Given the description of an element on the screen output the (x, y) to click on. 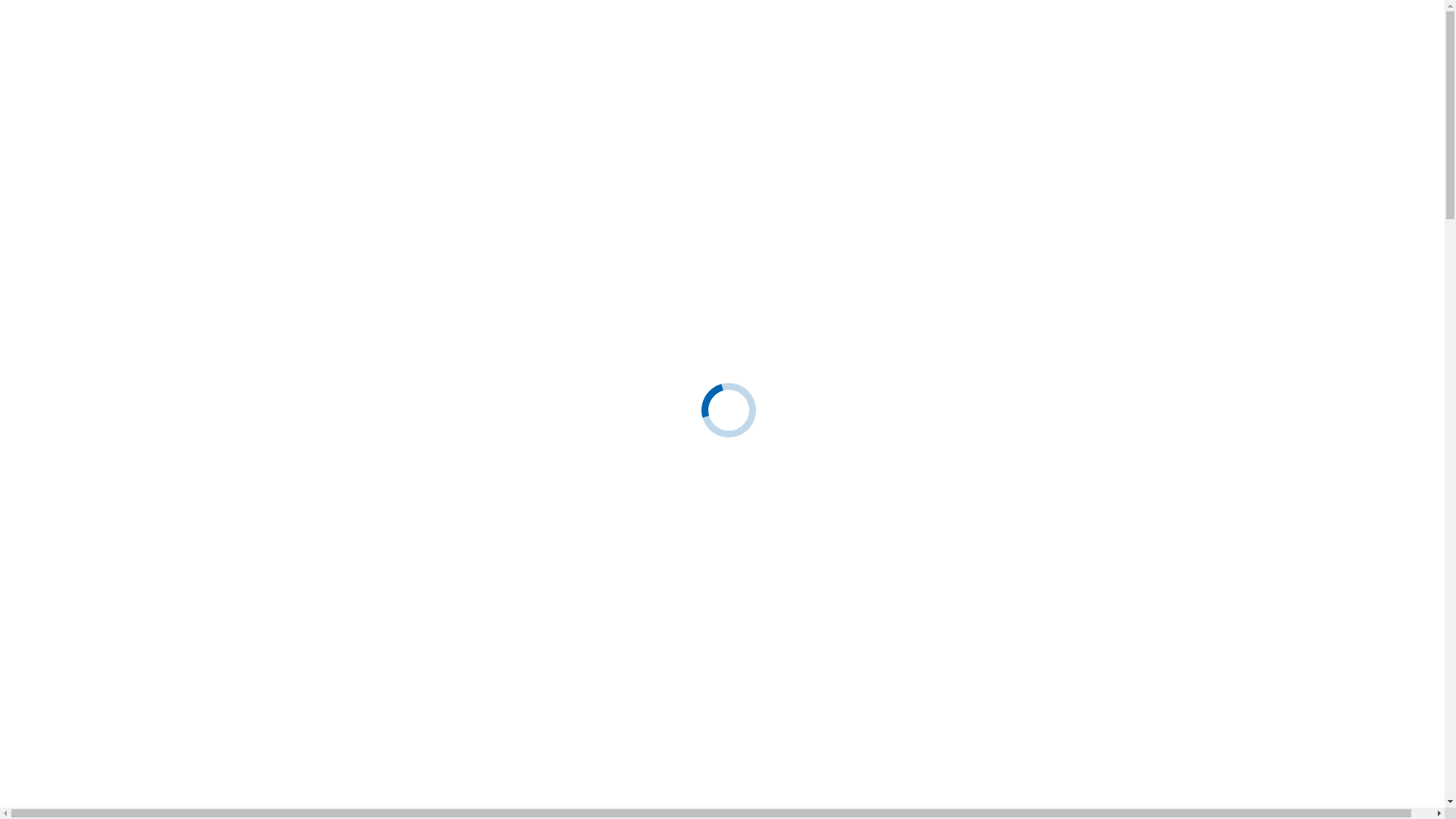
Contact Us Element type: text (63, 759)
Bridging Finance Element type: text (169, 582)
Debt Consolidation Calculator Element type: text (140, 718)
Debt Consolidation Element type: text (144, 664)
Types of Loans Element type: text (134, 133)
Buying Through Your SMSF Element type: text (227, 188)
100% Offset Accounts Element type: text (182, 201)
Skip to content Element type: text (5, 5)
Debt Consolidation Element type: text (144, 297)
Property investment Element type: text (176, 174)
Calculators Element type: text (63, 324)
Types of Loans Element type: text (134, 500)
Loan Repayments Calculator Element type: text (137, 705)
Variable Loans Element type: text (163, 514)
Construction and Renovations Loans Element type: text (217, 228)
Property investment Element type: text (176, 541)
Construction and Renovations Loans Element type: text (217, 595)
Residential and Investment Lending Element type: text (154, 473)
Home Element type: text (50, 418)
Resources Element type: text (61, 365)
Calculators Element type: text (63, 691)
Loan Repayments Calculator Element type: text (137, 338)
100% Offset Accounts Element type: text (182, 568)
Deposit Bonds Element type: text (163, 242)
Buying Through Your SMSF Element type: text (227, 555)
Meet the Team Element type: text (102, 78)
Life Insurance Element type: text (192, 283)
Income Protection Insurance Element type: text (227, 636)
Residential and Investment Lending Element type: text (154, 106)
Home Element type: text (50, 51)
Finance solutions Element type: text (78, 92)
Fixed Loans Element type: text (157, 527)
Helpful articles Element type: text (103, 379)
Fixed Loans Element type: text (157, 160)
Financial Planning Element type: text (172, 256)
Refinancing Element type: text (126, 310)
Financial Planning Element type: text (172, 623)
Contact Us Element type: text (63, 392)
Income Protection Insurance Element type: text (227, 269)
Meet the Team Element type: text (102, 445)
Finance solutions Element type: text (78, 459)
Debt Consolidation Calculator Element type: text (140, 351)
About Us Element type: text (59, 65)
Bridging Finance Element type: text (169, 215)
Life Insurance Element type: text (192, 650)
Resources Element type: text (61, 732)
First Home Buyers Element type: text (143, 119)
Deposit Bonds Element type: text (163, 609)
About Us Element type: text (59, 432)
First Home Buyers Element type: text (143, 486)
Variable Loans Element type: text (163, 147)
Refinancing Element type: text (126, 677)
Helpful articles Element type: text (103, 746)
